Given the description of an element on the screen output the (x, y) to click on. 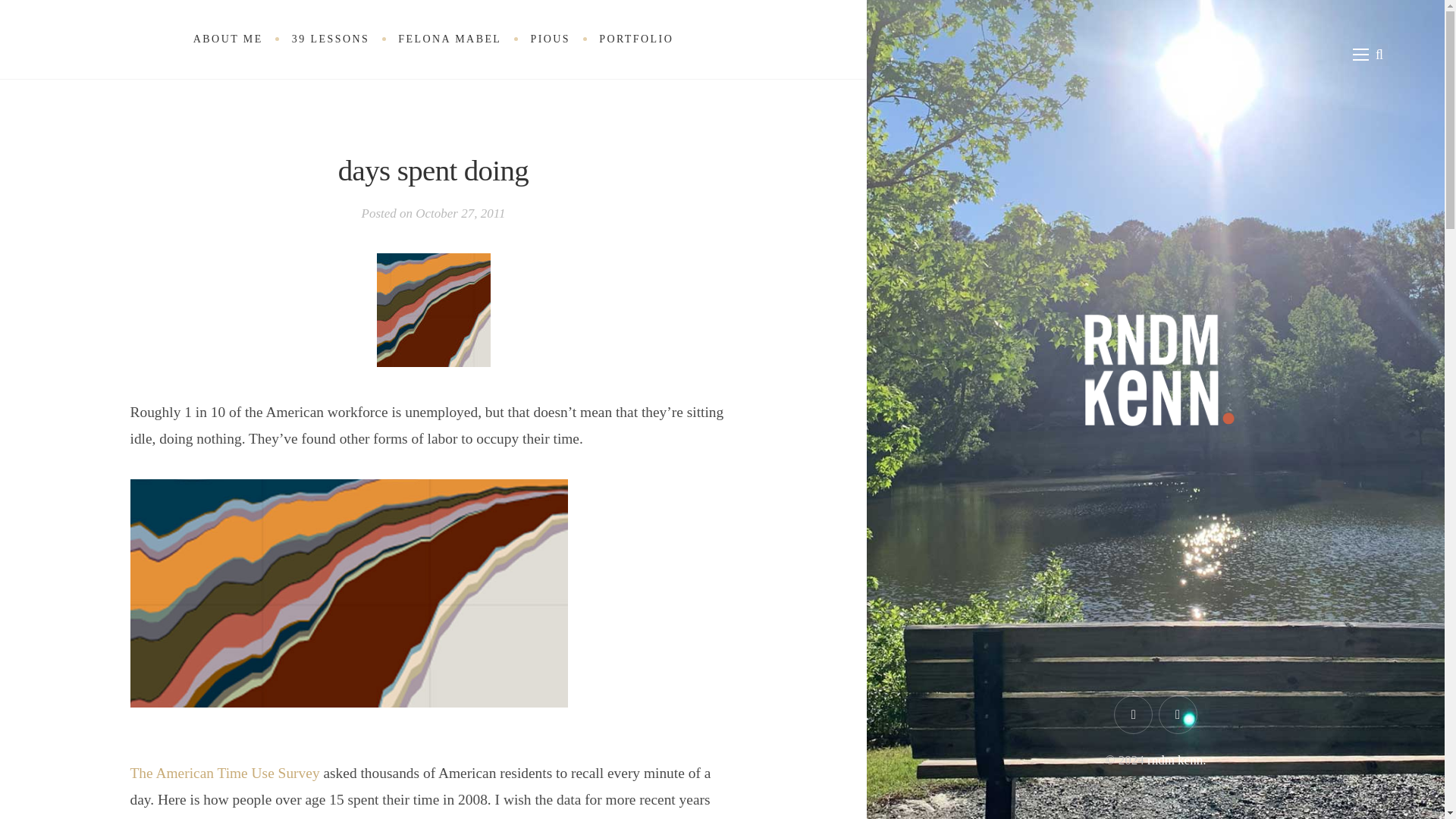
ABOUT ME (228, 38)
PORTFOLIO (636, 38)
FELONA MABEL (449, 38)
How Different Groups Spend Their Day (349, 593)
PIOUS (550, 38)
The American Time Use Survey (225, 785)
rndm kenn. (1176, 759)
39 LESSONS (331, 38)
